Given the description of an element on the screen output the (x, y) to click on. 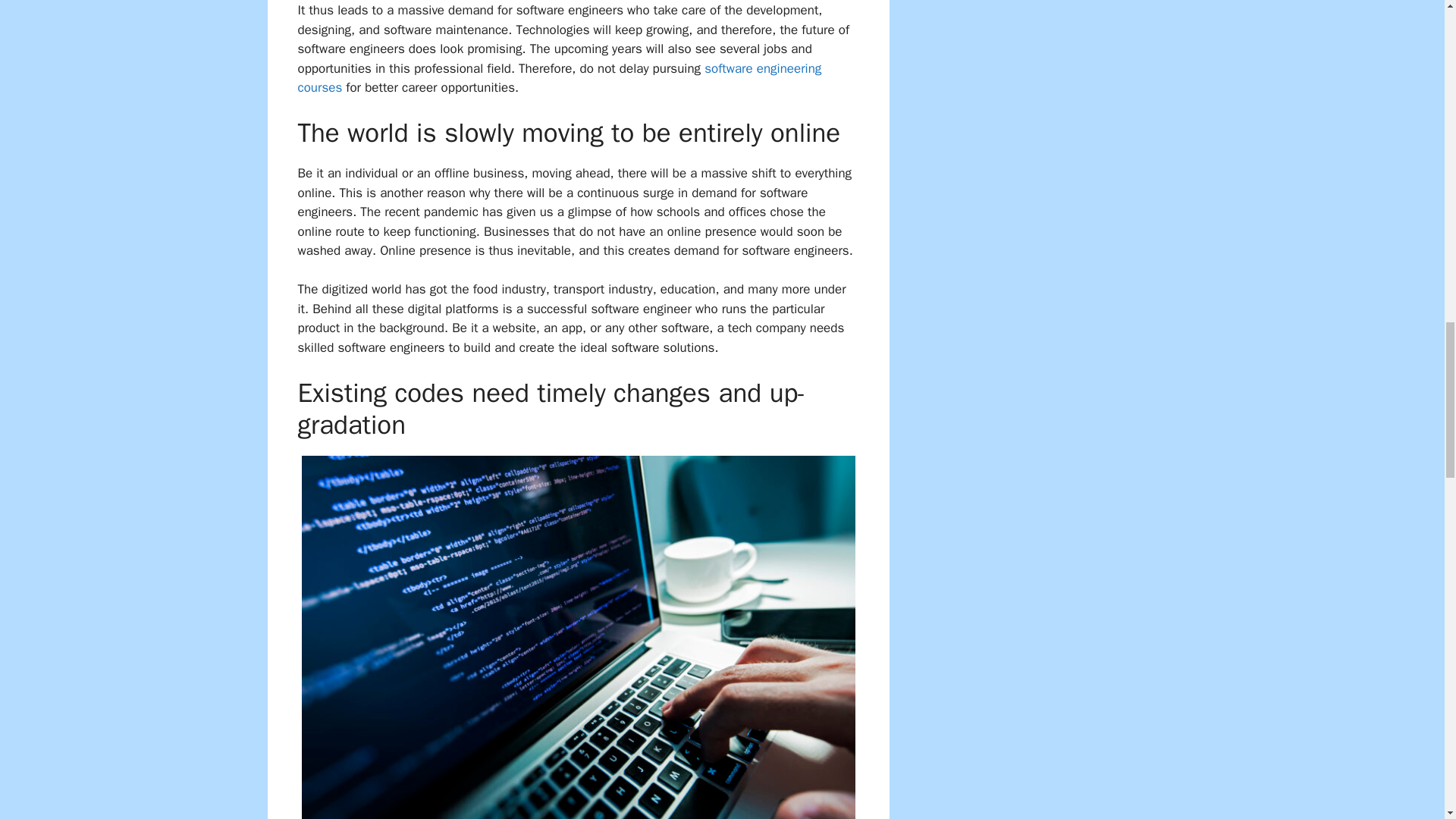
software engineering courses (559, 78)
